Given the description of an element on the screen output the (x, y) to click on. 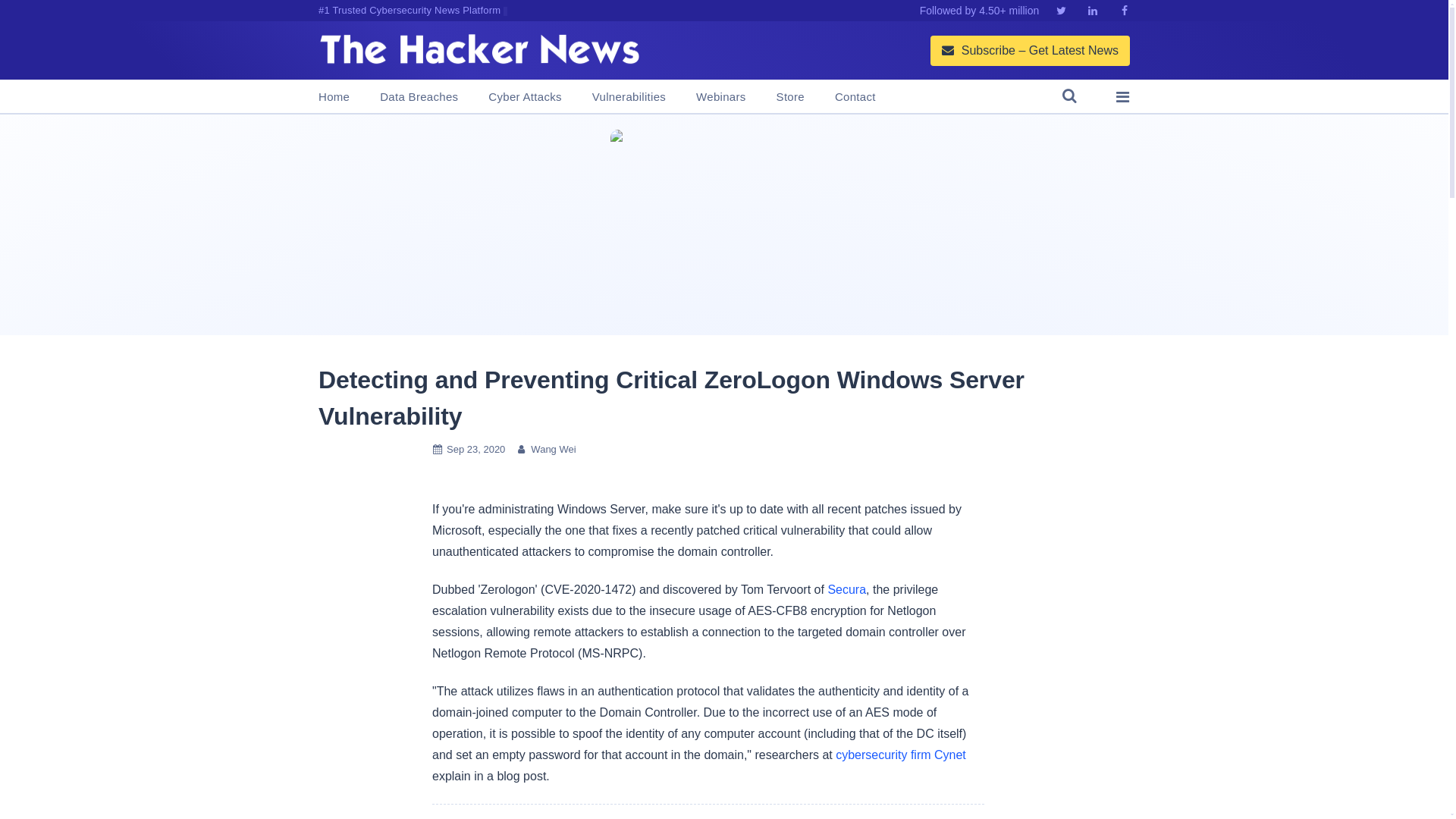
Home (333, 96)
Cyber Attacks (523, 96)
Vulnerabilities (628, 96)
Webinars (720, 96)
Secura (846, 589)
cybersecurity firm Cynet (900, 754)
Contact (855, 96)
Data Breaches (419, 96)
Insider Risk Management (724, 224)
